Given the description of an element on the screen output the (x, y) to click on. 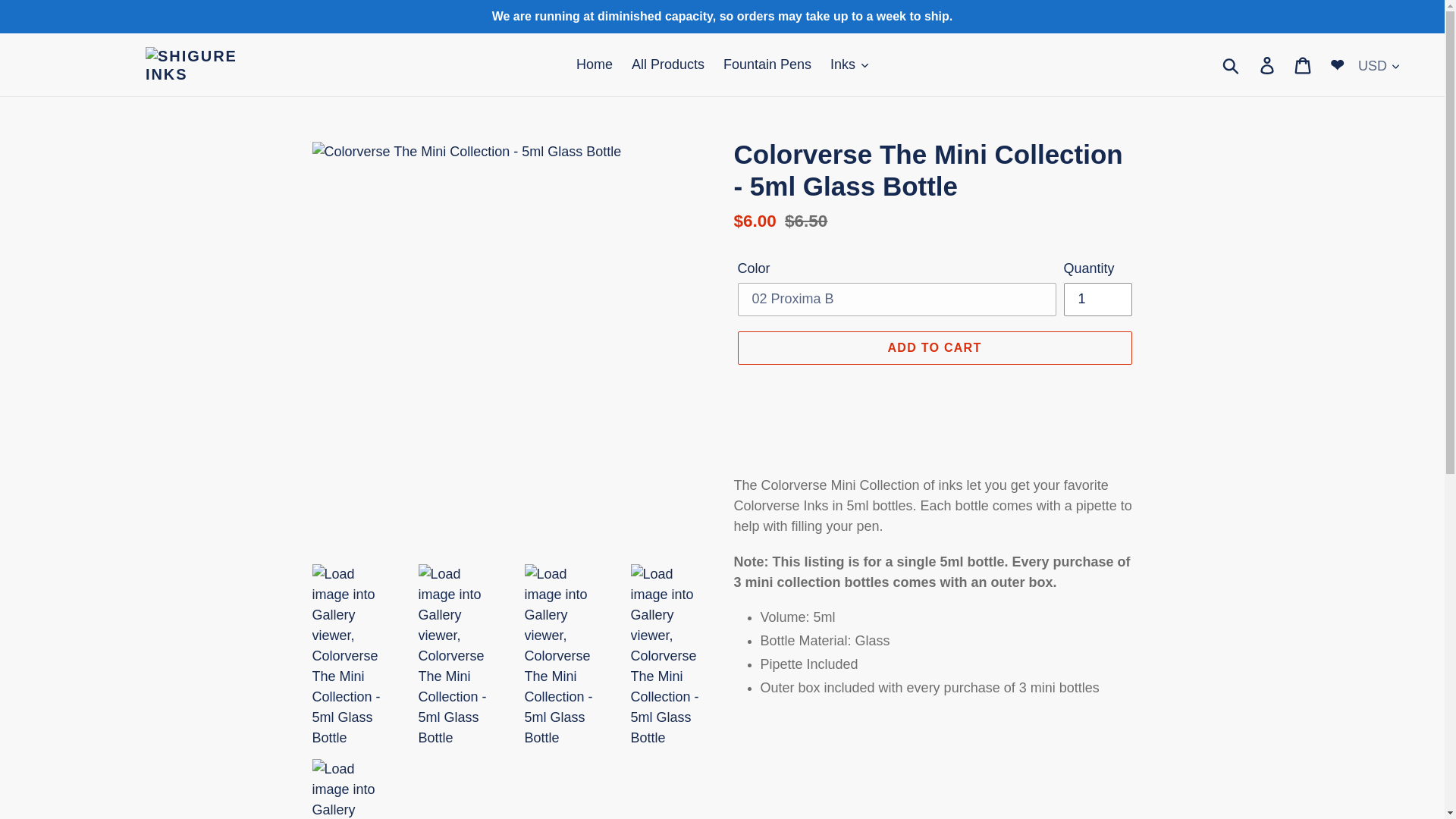
All Products (667, 64)
ADD TO CART (933, 347)
Home (594, 64)
Submit (1231, 64)
1 (1096, 299)
Fountain Pens (767, 64)
Log in (1267, 64)
Cart (1303, 64)
